Given the description of an element on the screen output the (x, y) to click on. 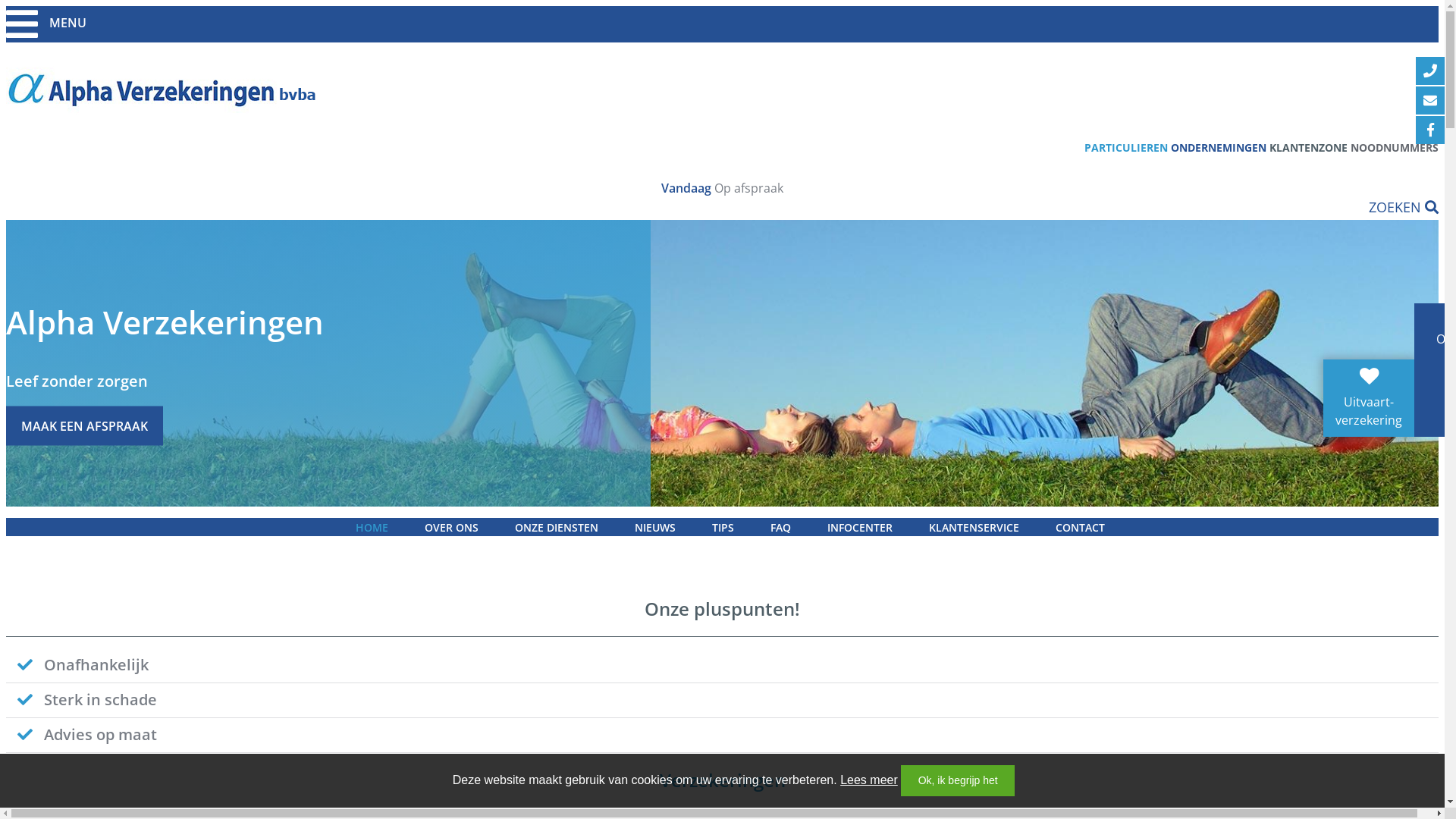
FAQ Element type: text (780, 527)
NIEUWS Element type: text (654, 527)
MAAK EEN AFSPRAAK Element type: text (84, 425)
OVER ONS Element type: text (451, 527)
KLANTENZONE Element type: text (1308, 147)
INFOCENTER Element type: text (858, 527)
ONDERNEMINGEN Element type: text (1218, 147)
Lees meer Element type: text (868, 779)
PARTICULIEREN Element type: text (1125, 147)
KLANTENSERVICE Element type: text (973, 527)
CONTACT Element type: text (1079, 527)
NOODNUMMERS Element type: text (1394, 147)
TIPS Element type: text (721, 527)
HOME Element type: text (371, 527)
Alpha Verzekeringen Element type: hover (722, 362)
Ok, ik begrijp het Element type: text (957, 780)
ONZE DIENSTEN Element type: text (555, 527)
